Given the description of an element on the screen output the (x, y) to click on. 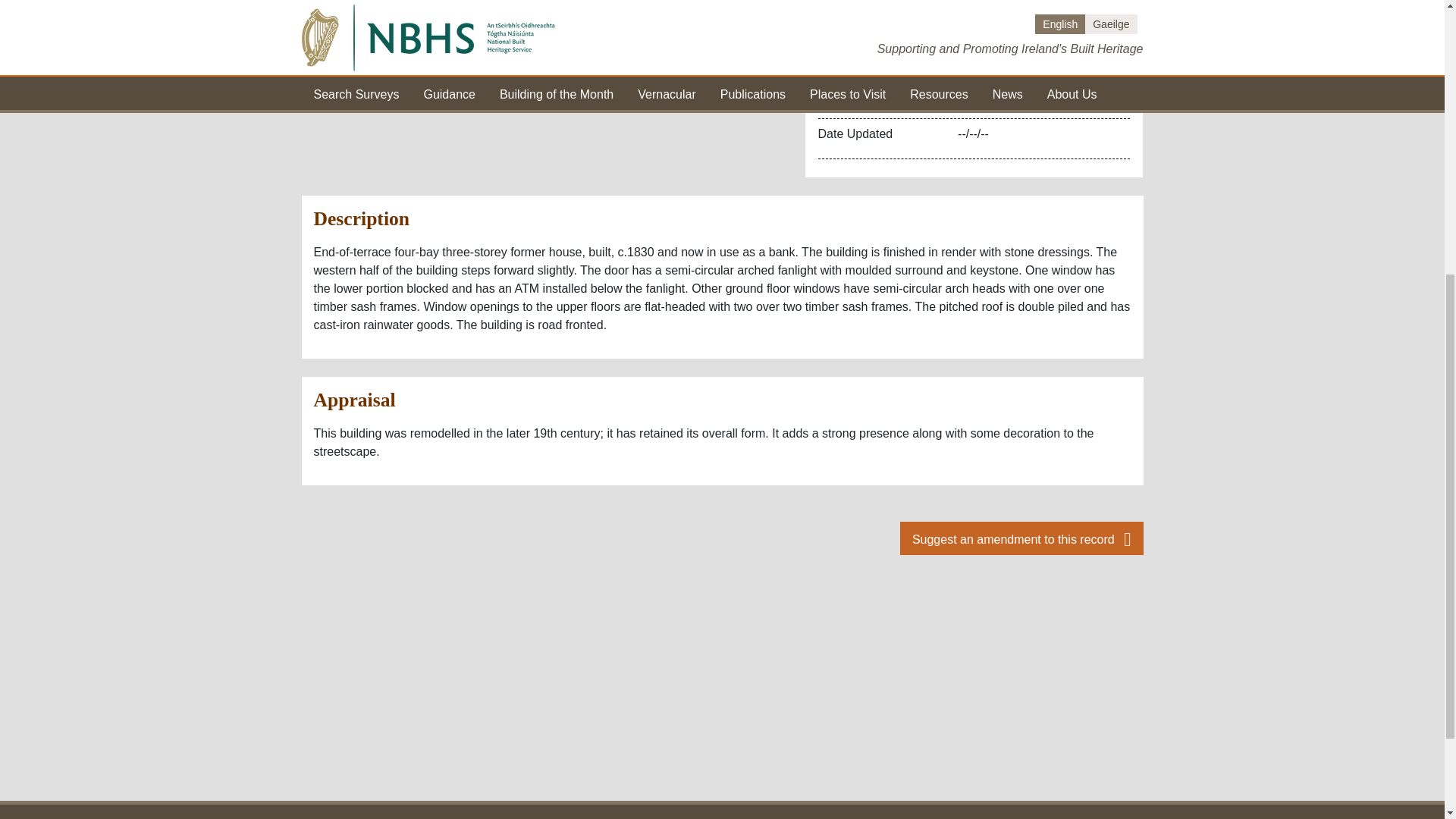
View on map (708, 12)
Suggest an amendment to this record (1020, 538)
